Given the description of an element on the screen output the (x, y) to click on. 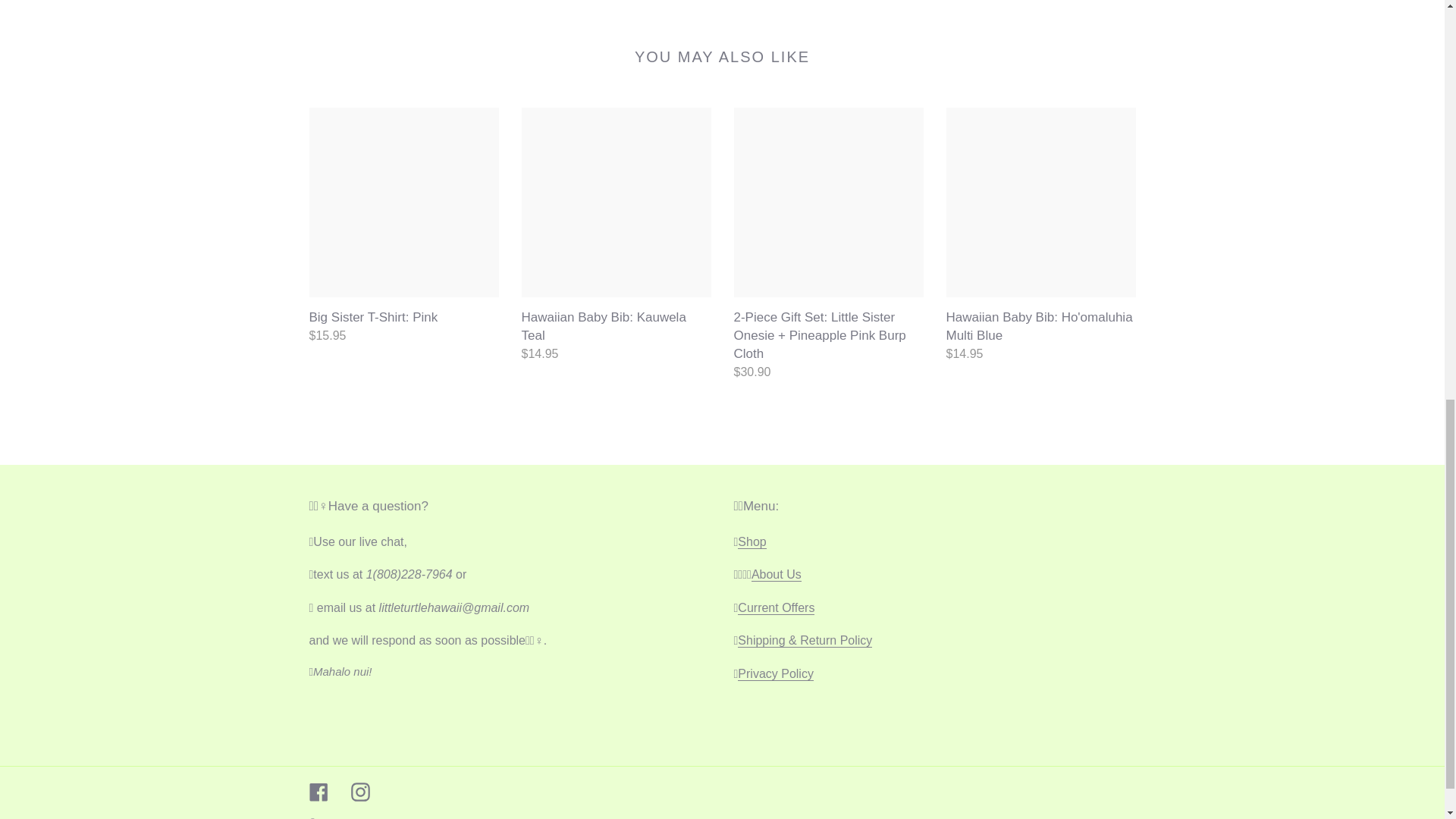
Privacy Policy (775, 673)
ABOUT US (776, 574)
All Collections (751, 541)
